Given the description of an element on the screen output the (x, y) to click on. 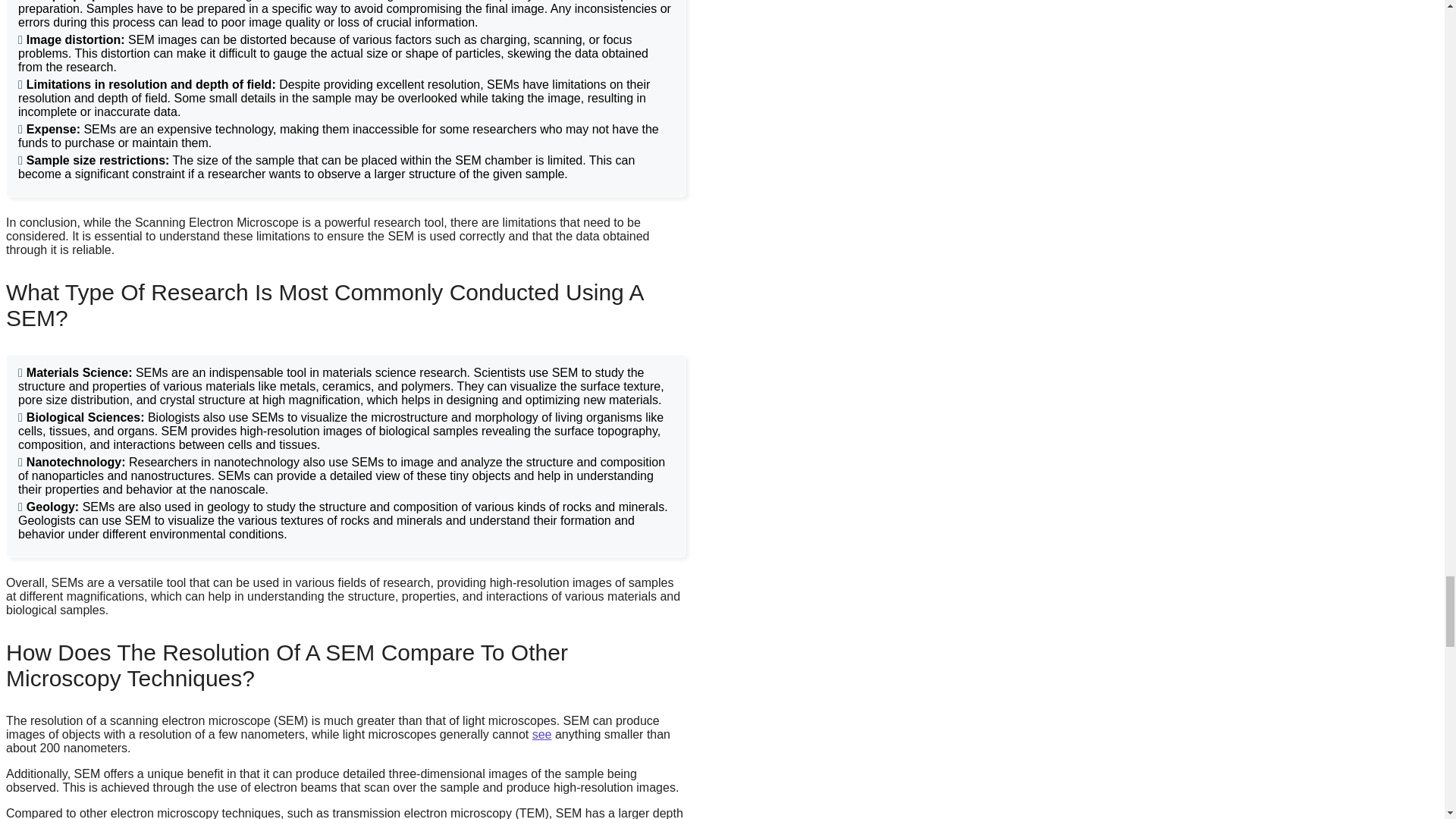
see (541, 734)
